Given the description of an element on the screen output the (x, y) to click on. 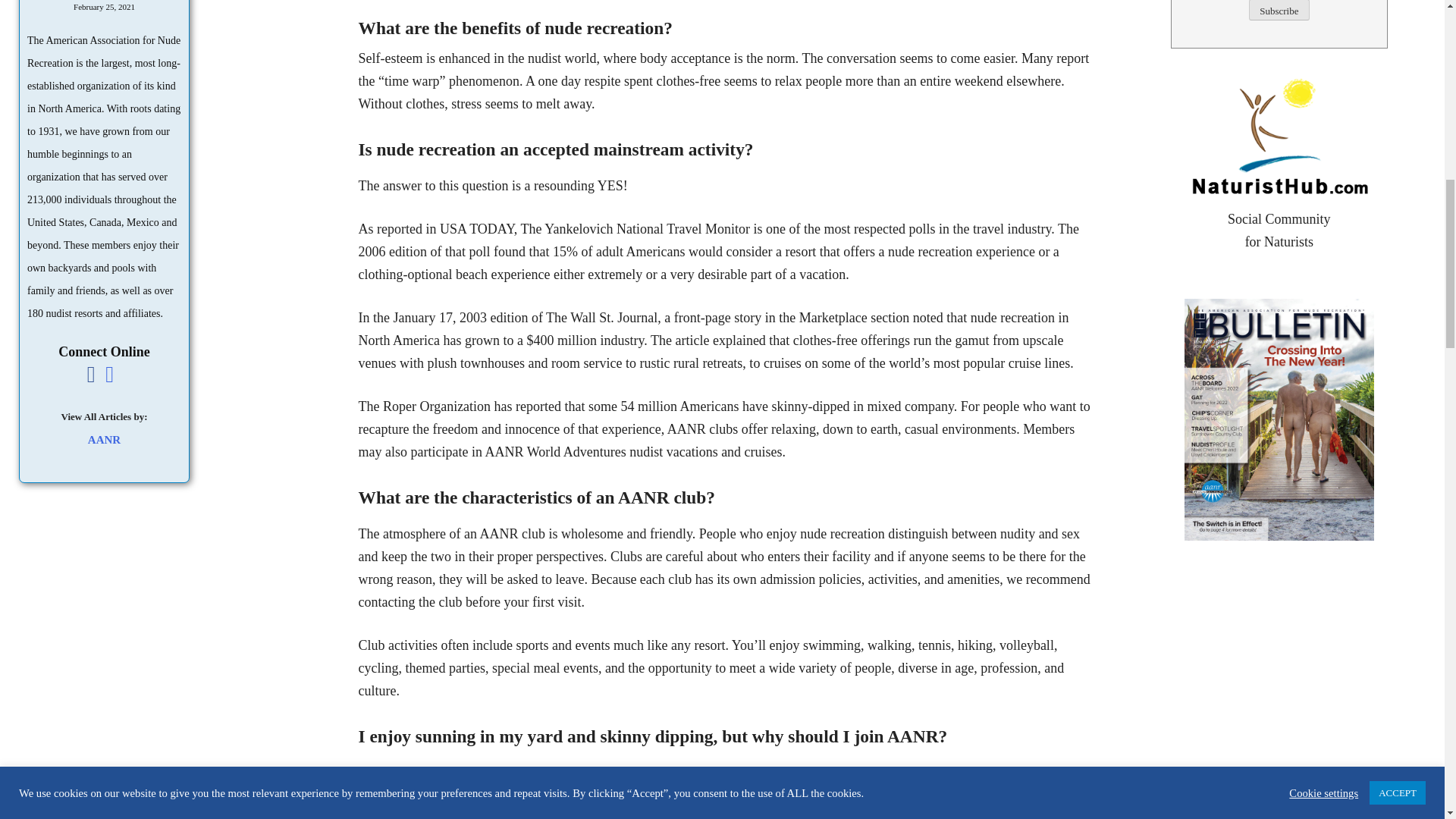
Subscribe (1278, 10)
